Given the description of an element on the screen output the (x, y) to click on. 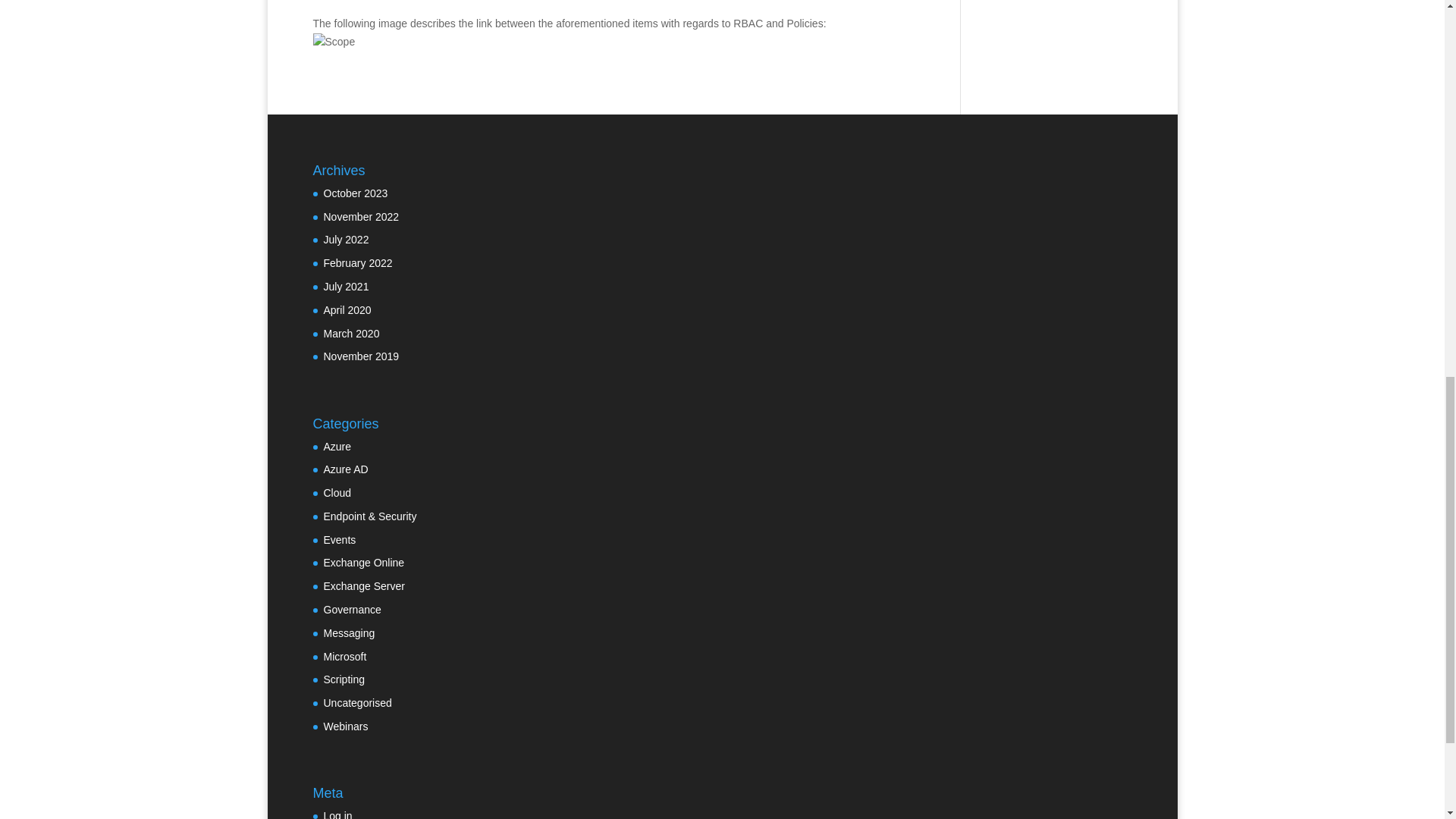
Messaging (348, 633)
July 2021 (345, 286)
November 2019 (360, 356)
Webinars (345, 726)
Microsoft (344, 656)
October 2023 (355, 193)
April 2020 (347, 309)
Scripting (343, 679)
Events (339, 539)
July 2022 (345, 239)
Cloud (336, 492)
Exchange Online (363, 562)
November 2022 (360, 216)
Log in (337, 814)
Governance (351, 609)
